Given the description of an element on the screen output the (x, y) to click on. 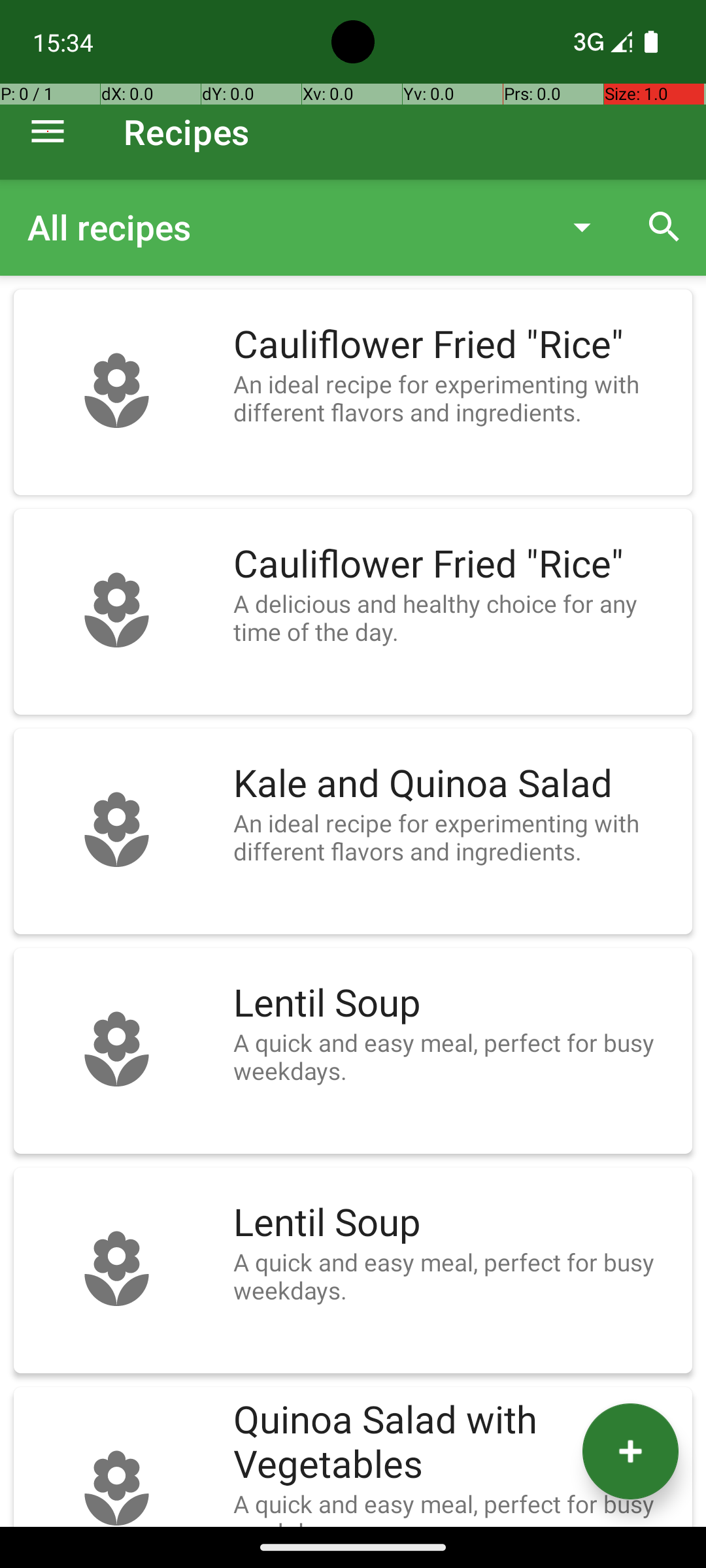
Kale and Quinoa Salad Element type: android.widget.TextView (455, 783)
Lentil Soup Element type: android.widget.TextView (455, 1003)
Quinoa Salad with Vegetables Element type: android.widget.TextView (455, 1442)
